Given the description of an element on the screen output the (x, y) to click on. 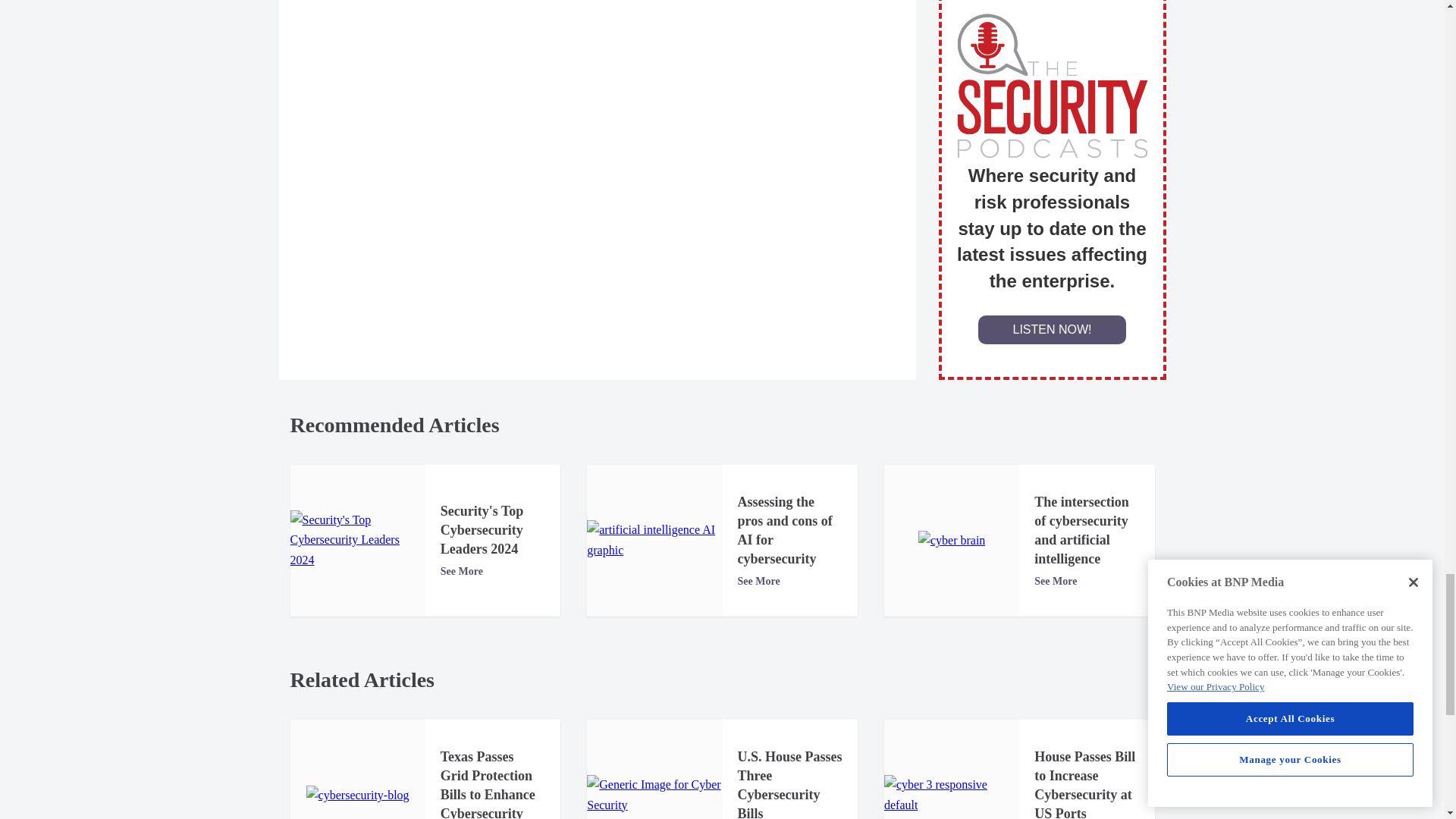
cyber brain (951, 540)
Generic Image for Cyber Security (654, 794)
cybersecurity-blog (357, 795)
Security's Top Cybersecurity Leaders 2024 (357, 540)
Artificial Intelligence (654, 540)
